Given the description of an element on the screen output the (x, y) to click on. 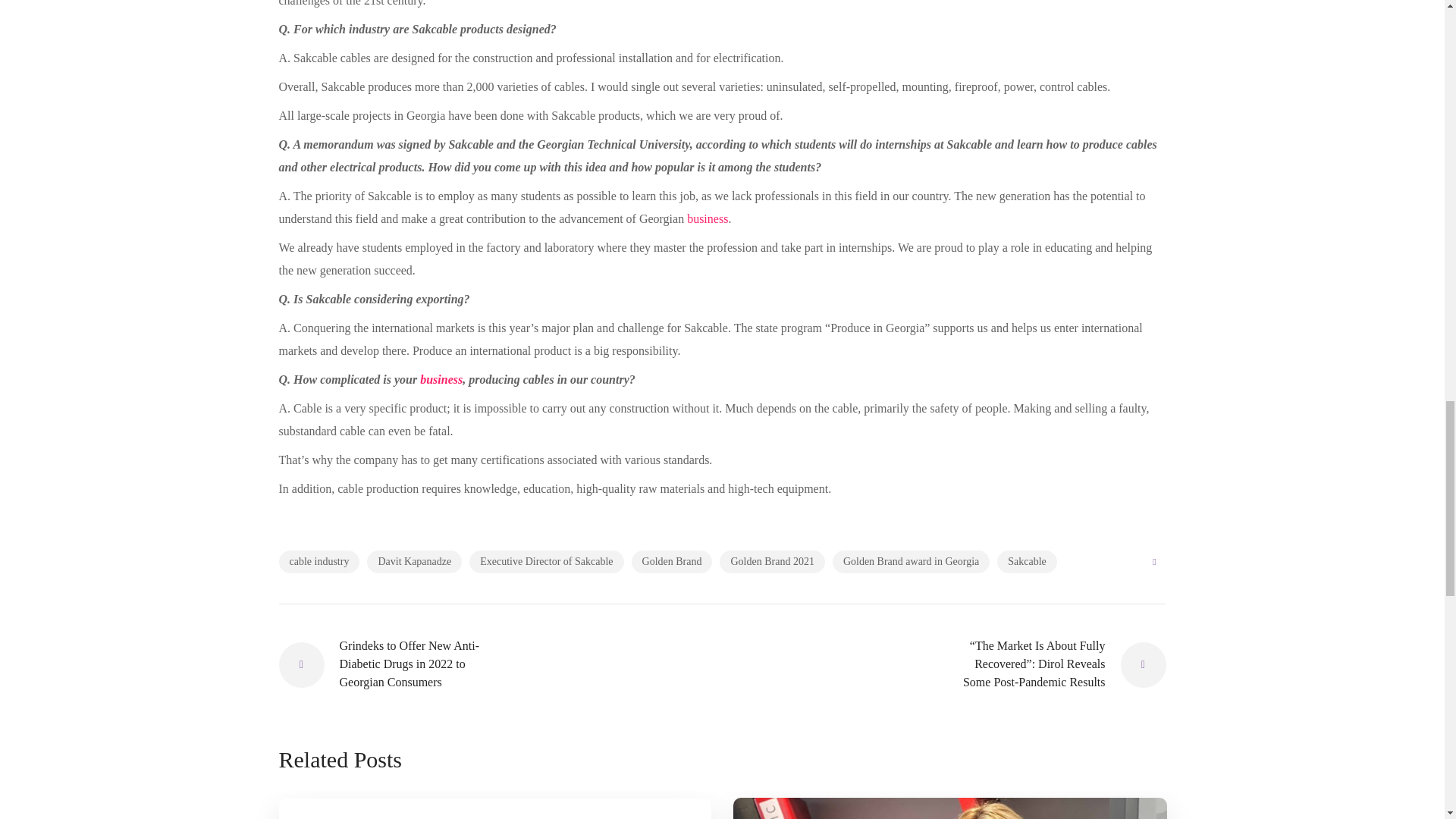
Business (707, 218)
Business (441, 379)
